Given the description of an element on the screen output the (x, y) to click on. 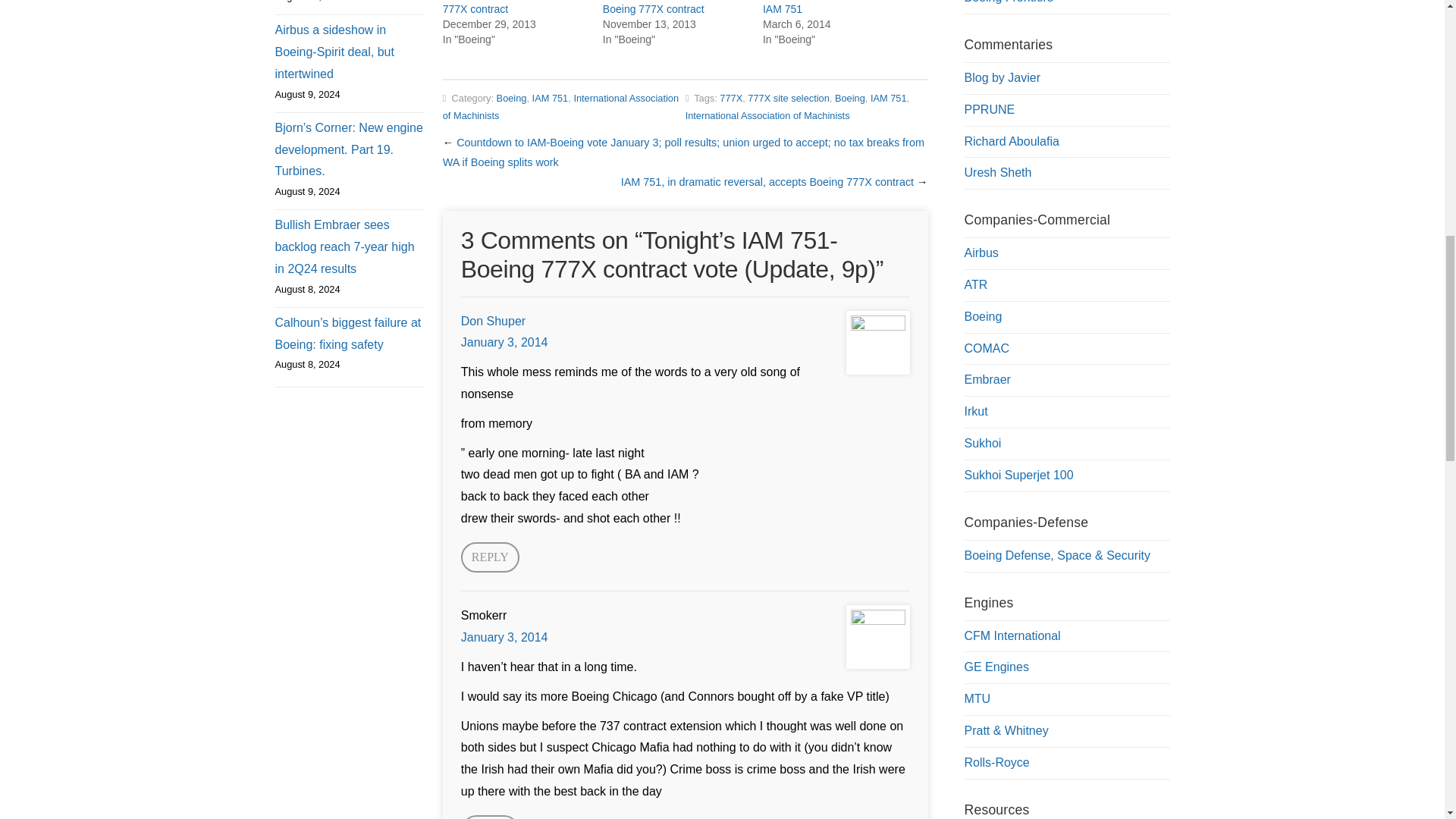
777X (730, 98)
IAM 751 (888, 98)
Airbus a sideshow in Boeing-Spirit deal, but intertwined (349, 52)
International Association of Machinists (767, 115)
777X site selection (788, 98)
International Association of Machinists (560, 106)
Vote in poll on IAM Boeing 777X contract (504, 7)
Boeing (511, 98)
IAM 751 (550, 98)
